Given the description of an element on the screen output the (x, y) to click on. 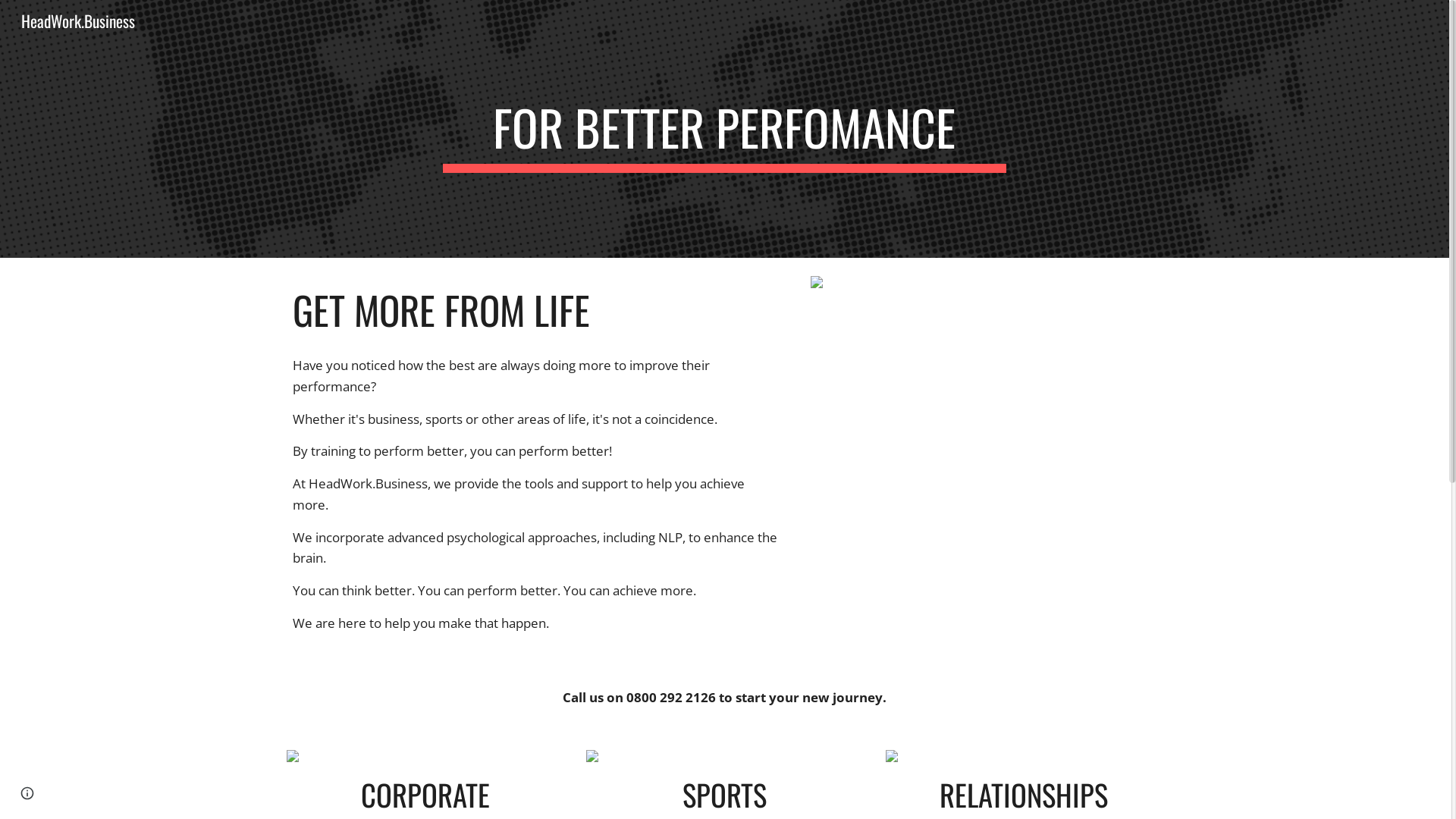
HeadWork.Business Element type: text (78, 18)
